Given the description of an element on the screen output the (x, y) to click on. 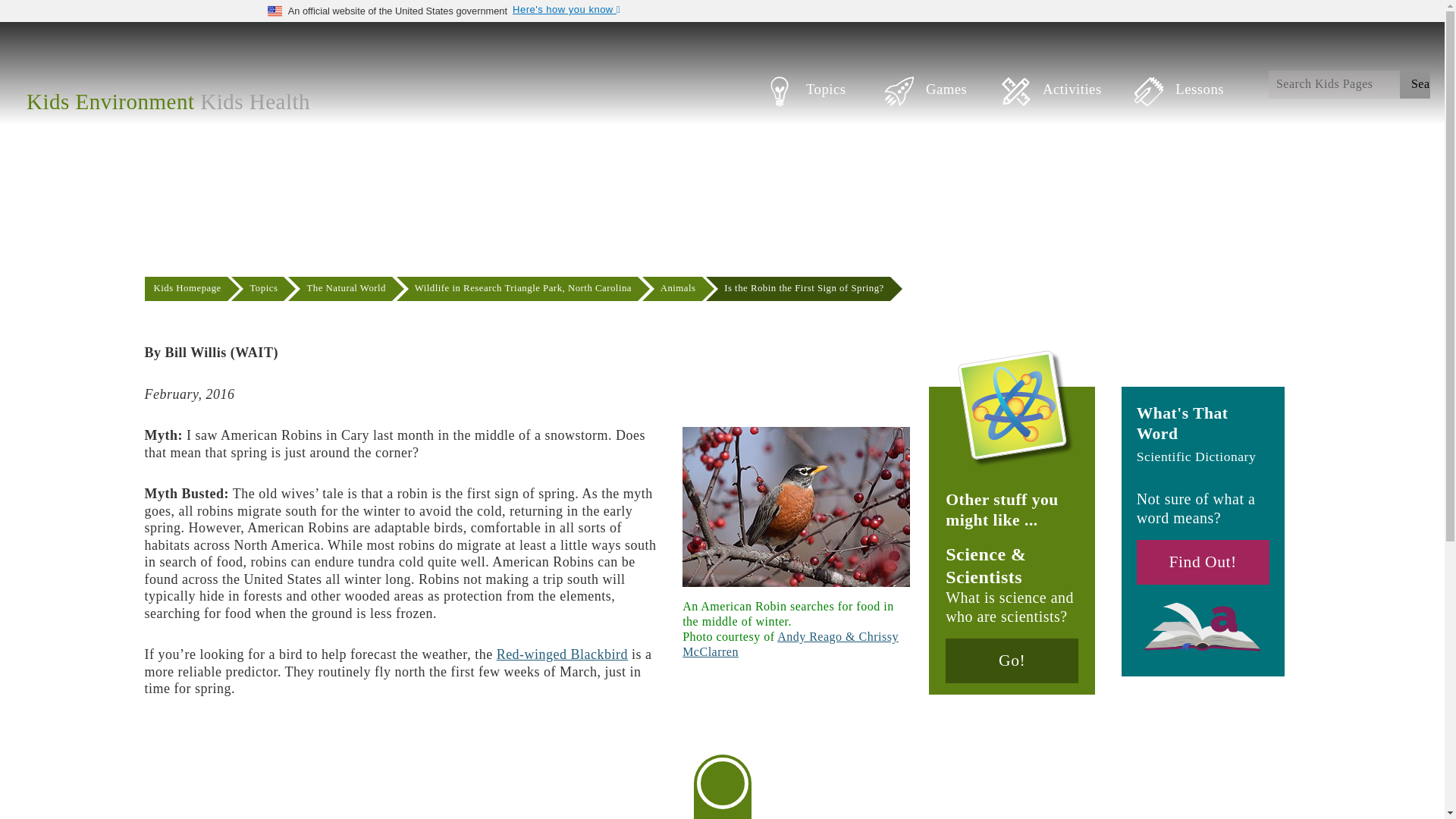
Topics (823, 102)
Lessons (1193, 102)
Search (1414, 84)
Kids Health (255, 101)
Here's how you know (568, 10)
Games (943, 102)
Kids Environment (109, 101)
Search (1414, 84)
Enter the terms you wish to search for. (1348, 84)
